Given the description of an element on the screen output the (x, y) to click on. 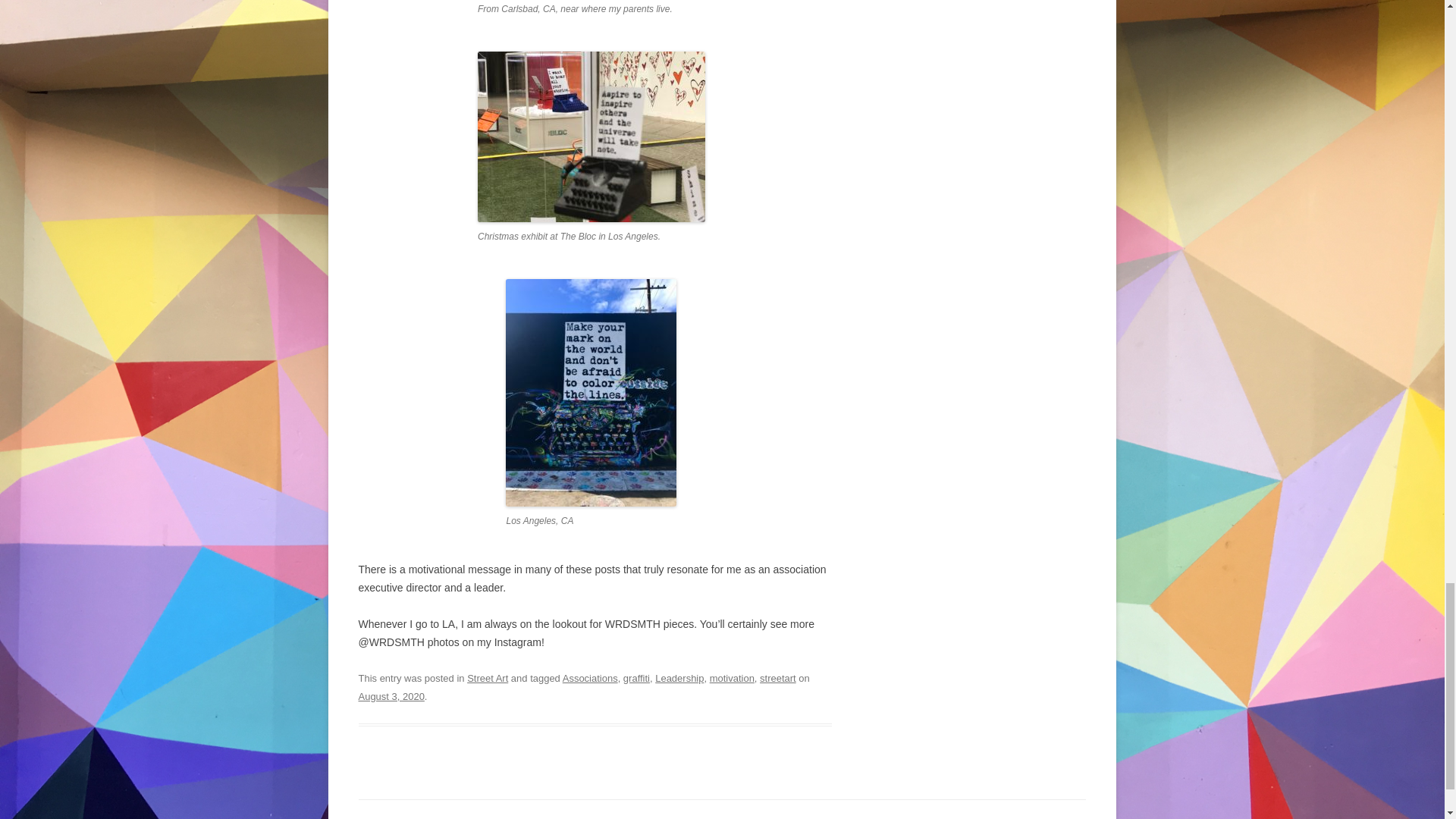
12:52 am (390, 695)
motivation (732, 677)
Leadership (679, 677)
Associations (589, 677)
Street Art (487, 677)
August 3, 2020 (390, 695)
graffiti (636, 677)
streetart (778, 677)
